Given the description of an element on the screen output the (x, y) to click on. 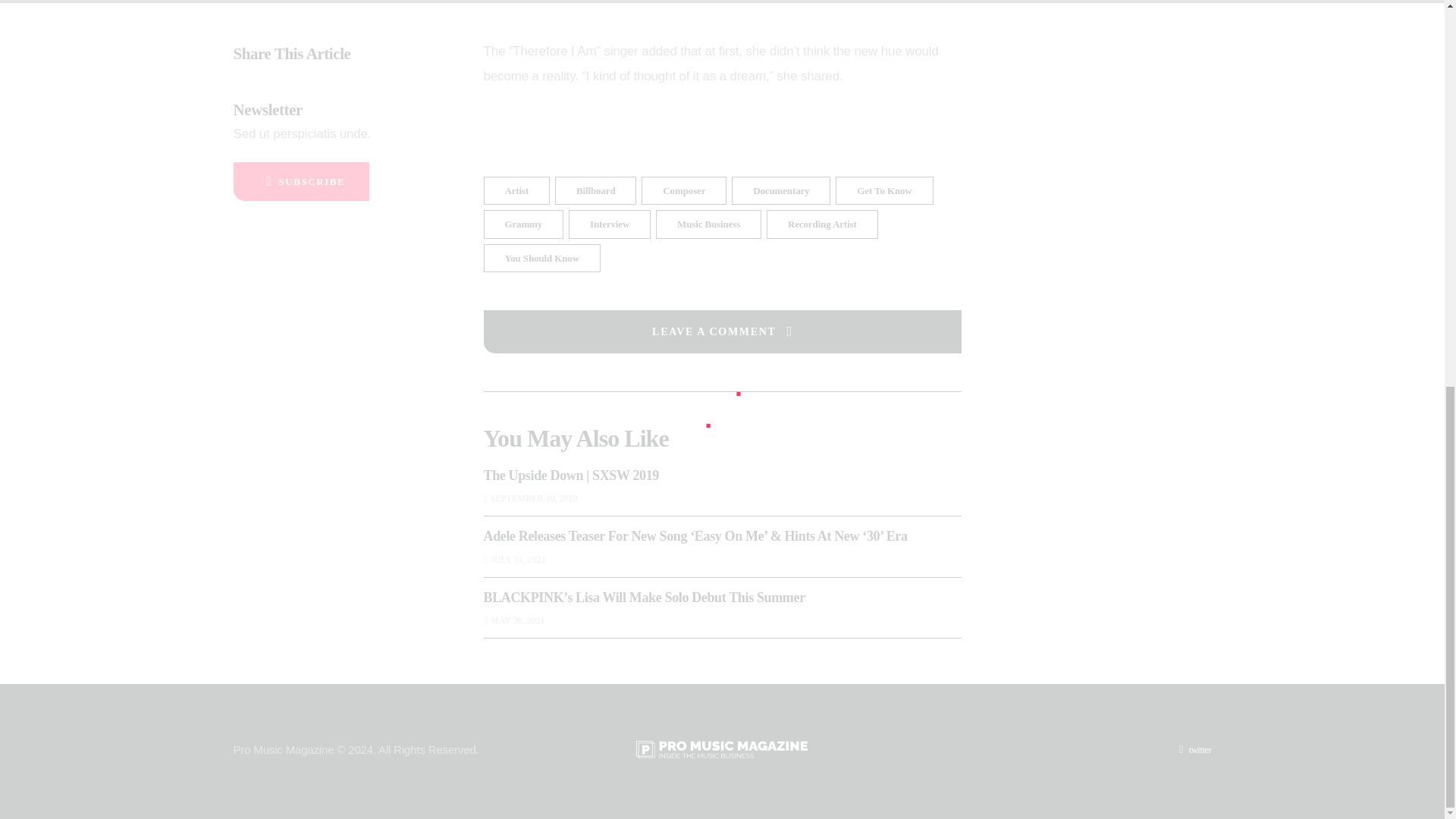
Grammy (523, 224)
Music Business (708, 224)
SUBSCRIBE (300, 181)
Artist (516, 190)
You Should Know (541, 258)
LEAVE A COMMENT (721, 331)
Recording Artist (822, 224)
Get To Know (884, 190)
Documentary (780, 190)
Interview (609, 224)
Billboard (595, 190)
Composer (684, 190)
